Given the description of an element on the screen output the (x, y) to click on. 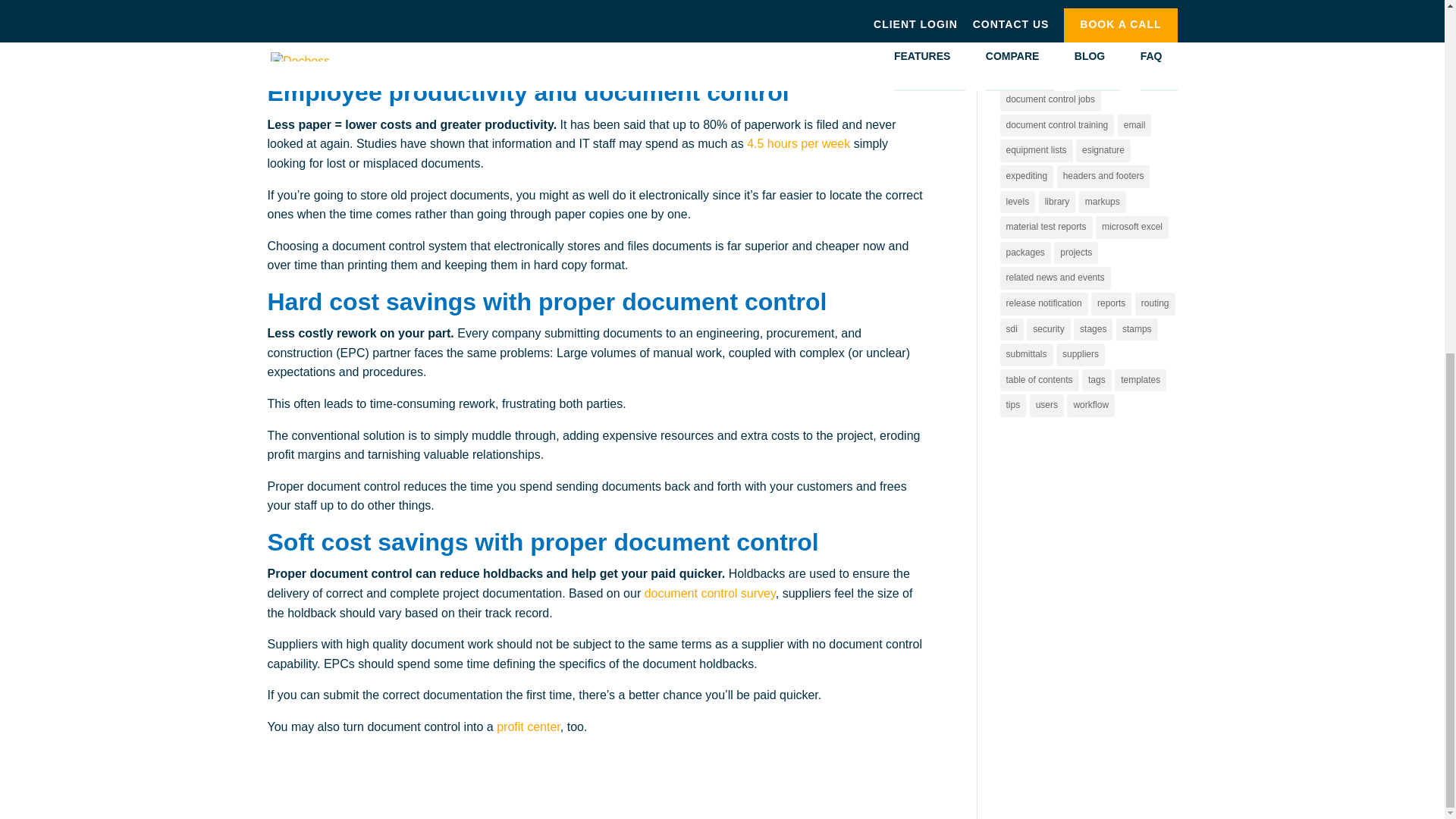
docboss benefits (1039, 48)
databooks (1126, 23)
email (1134, 125)
equipment lists (1034, 150)
document control training (1055, 125)
comments (1025, 4)
compilations (1088, 4)
4.5 hours per week (798, 143)
document control survey (710, 593)
docboss events (1120, 48)
